Given the description of an element on the screen output the (x, y) to click on. 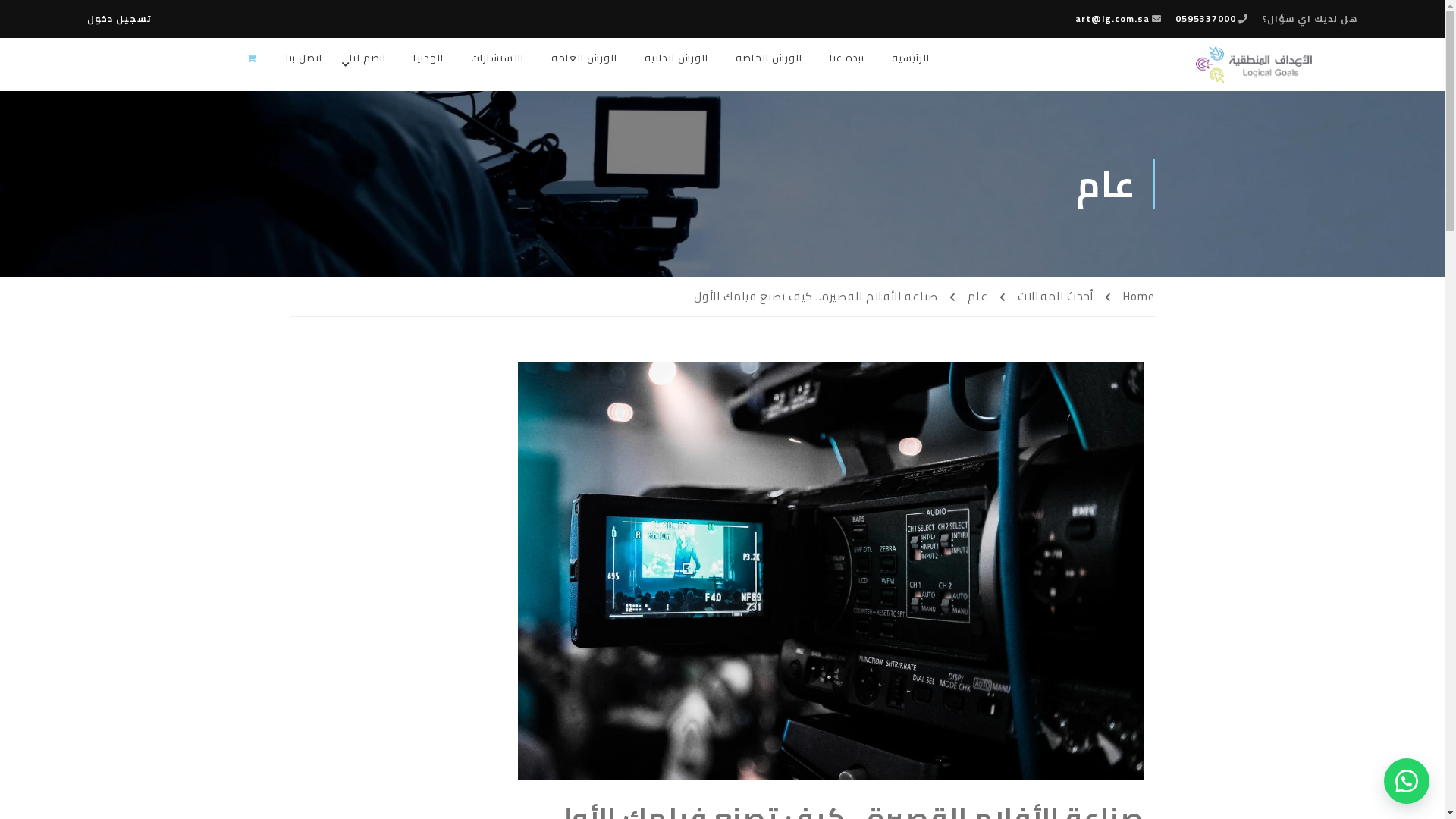
0595337000 Element type: text (1205, 18)
art@lg.com.sa Element type: text (1112, 18)
Home Element type: text (1129, 296)
